Given the description of an element on the screen output the (x, y) to click on. 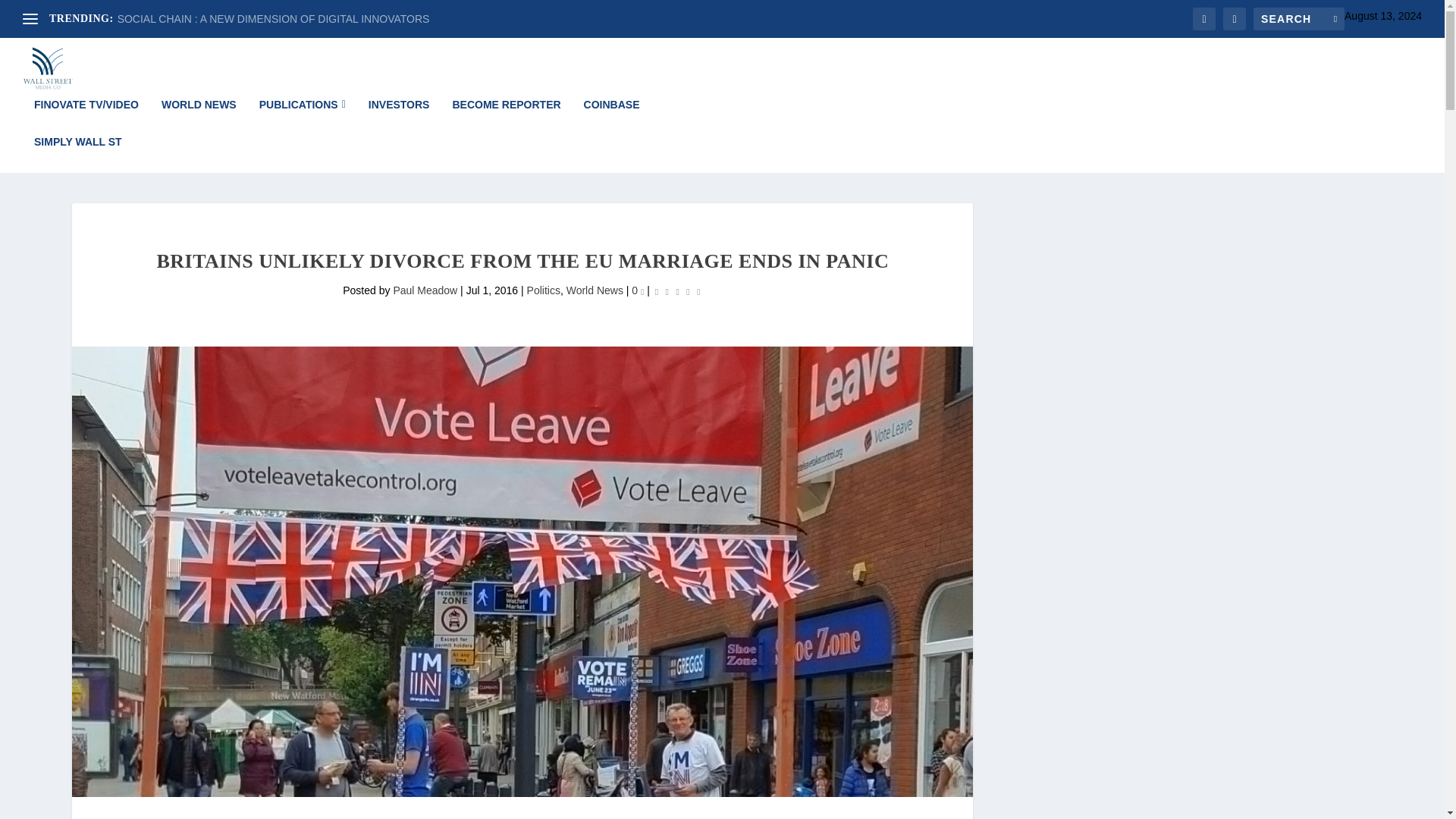
WORLD NEWS (198, 116)
Rating: 0.00 (677, 291)
Posts by Paul Meadow (425, 290)
Search for: (1298, 18)
PUBLICATIONS (302, 116)
SOCIAL CHAIN : A NEW DIMENSION OF DIGITAL INNOVATORS (273, 19)
